Given the description of an element on the screen output the (x, y) to click on. 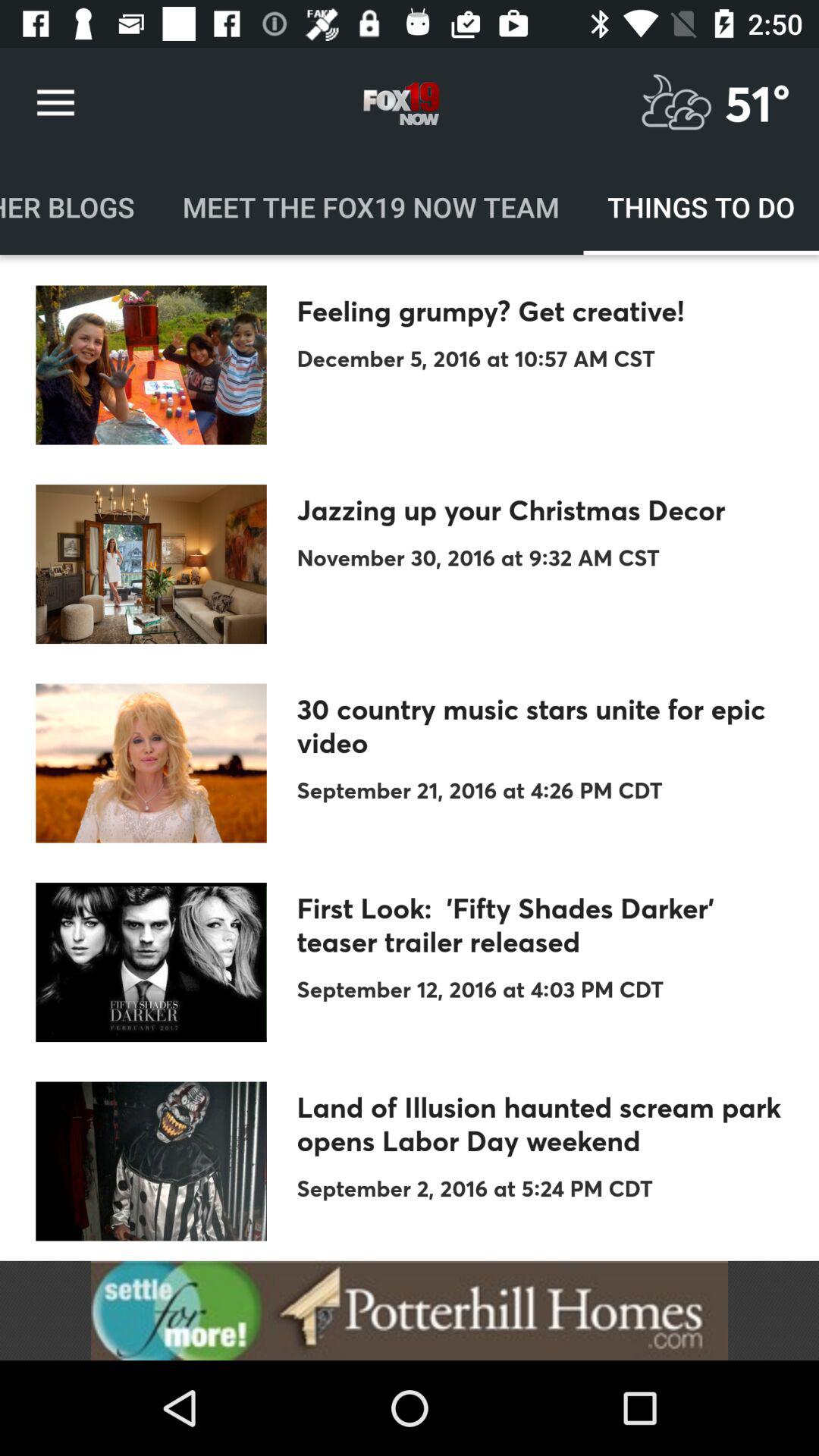
to view weather report (676, 103)
